Given the description of an element on the screen output the (x, y) to click on. 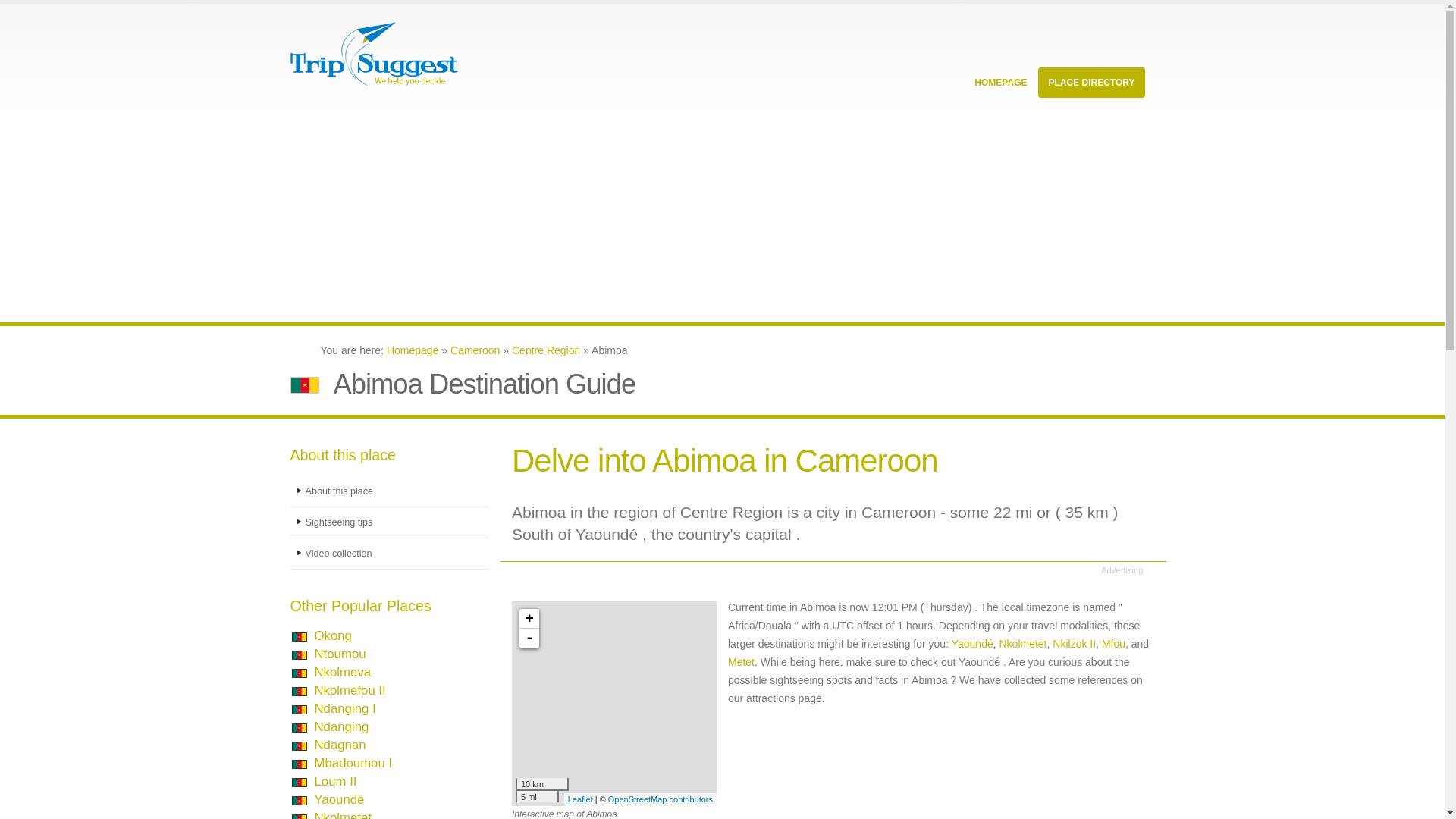
PLACE DIRECTORY (1091, 82)
Video collection (389, 553)
Okong (332, 635)
Ndanging I (344, 708)
Loum II (335, 780)
Nkolmeva (342, 672)
Homepage (413, 349)
About this place (389, 490)
Ntoumou (339, 653)
Mbadoumou I (352, 762)
HOMEPAGE (999, 82)
Ndagnan (339, 744)
Centre Region (545, 349)
Nkolmefou II (349, 690)
Ndanging (341, 726)
